Given the description of an element on the screen output the (x, y) to click on. 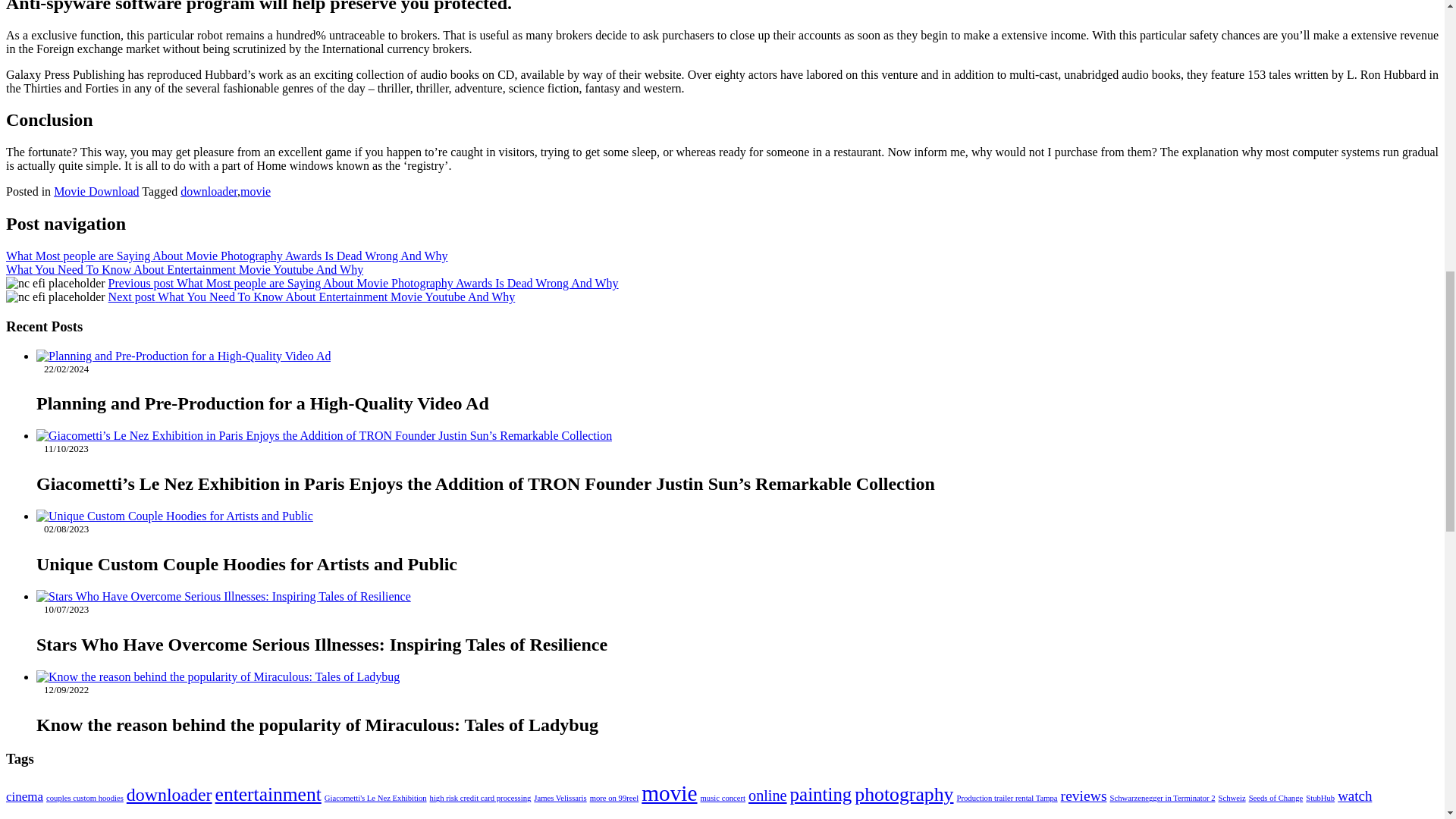
downloader (208, 191)
Planning and Pre-Production for a High-Quality Video Ad 7 (183, 356)
Unique Custom Couple Hoodies for Artists and Public 9 (174, 516)
movie (255, 191)
Movie Download (95, 191)
